Given the description of an element on the screen output the (x, y) to click on. 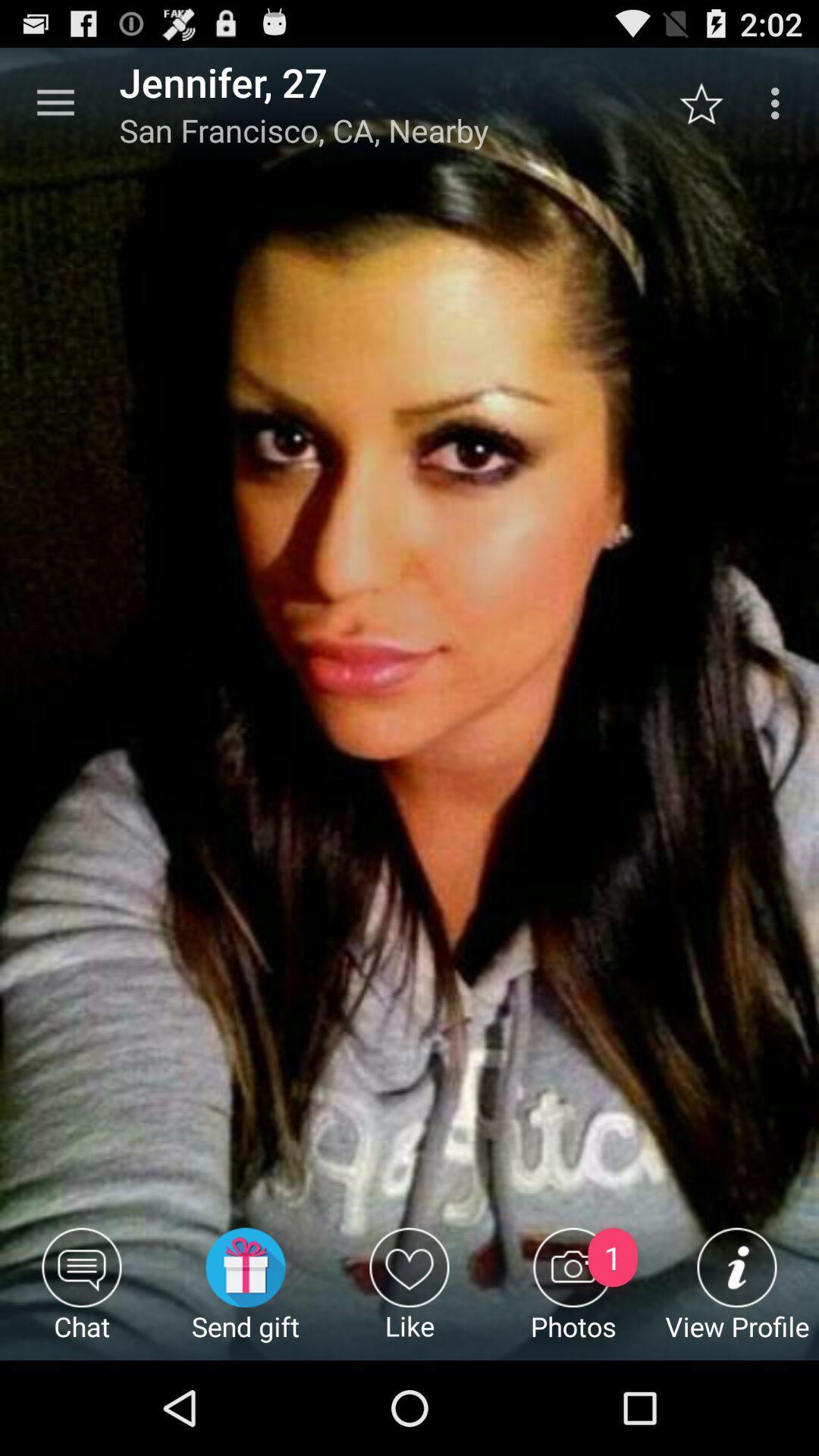
choose the item next to the chat item (245, 1293)
